Given the description of an element on the screen output the (x, y) to click on. 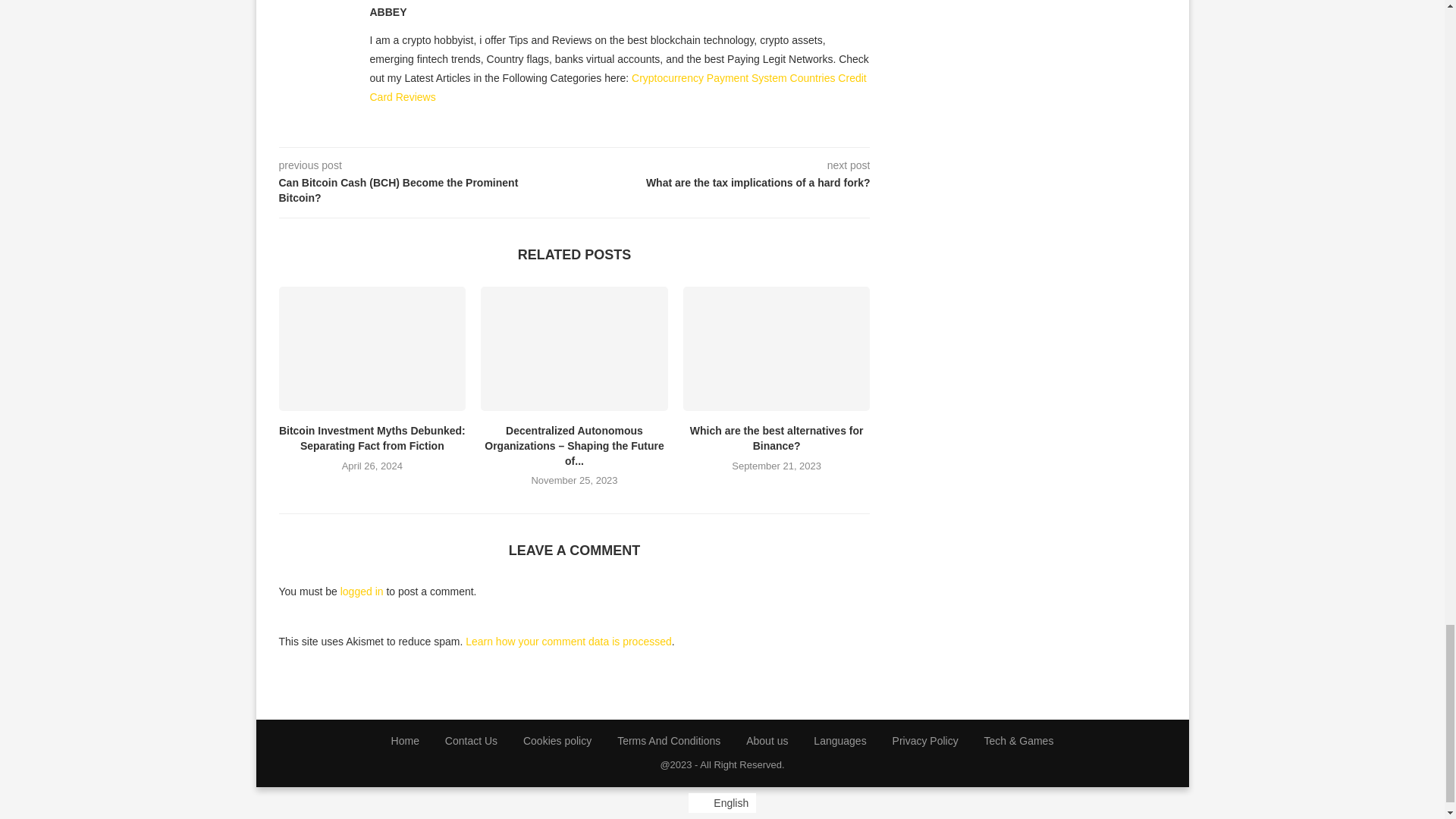
Author Abbey (388, 11)
Which are the best alternatives for Binance? (776, 348)
